Given the description of an element on the screen output the (x, y) to click on. 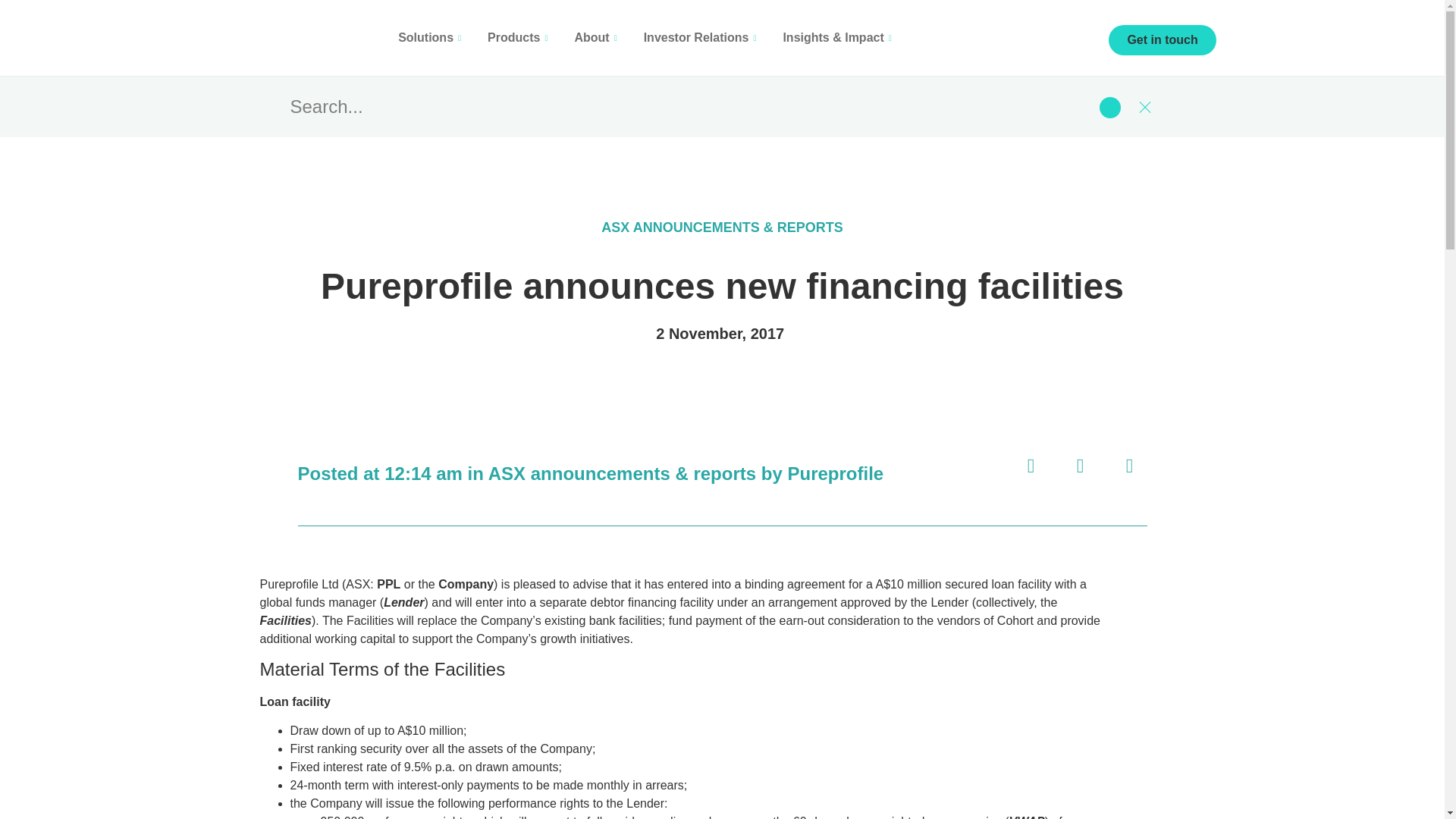
Solutions (431, 38)
Products (519, 38)
About (596, 38)
